Given the description of an element on the screen output the (x, y) to click on. 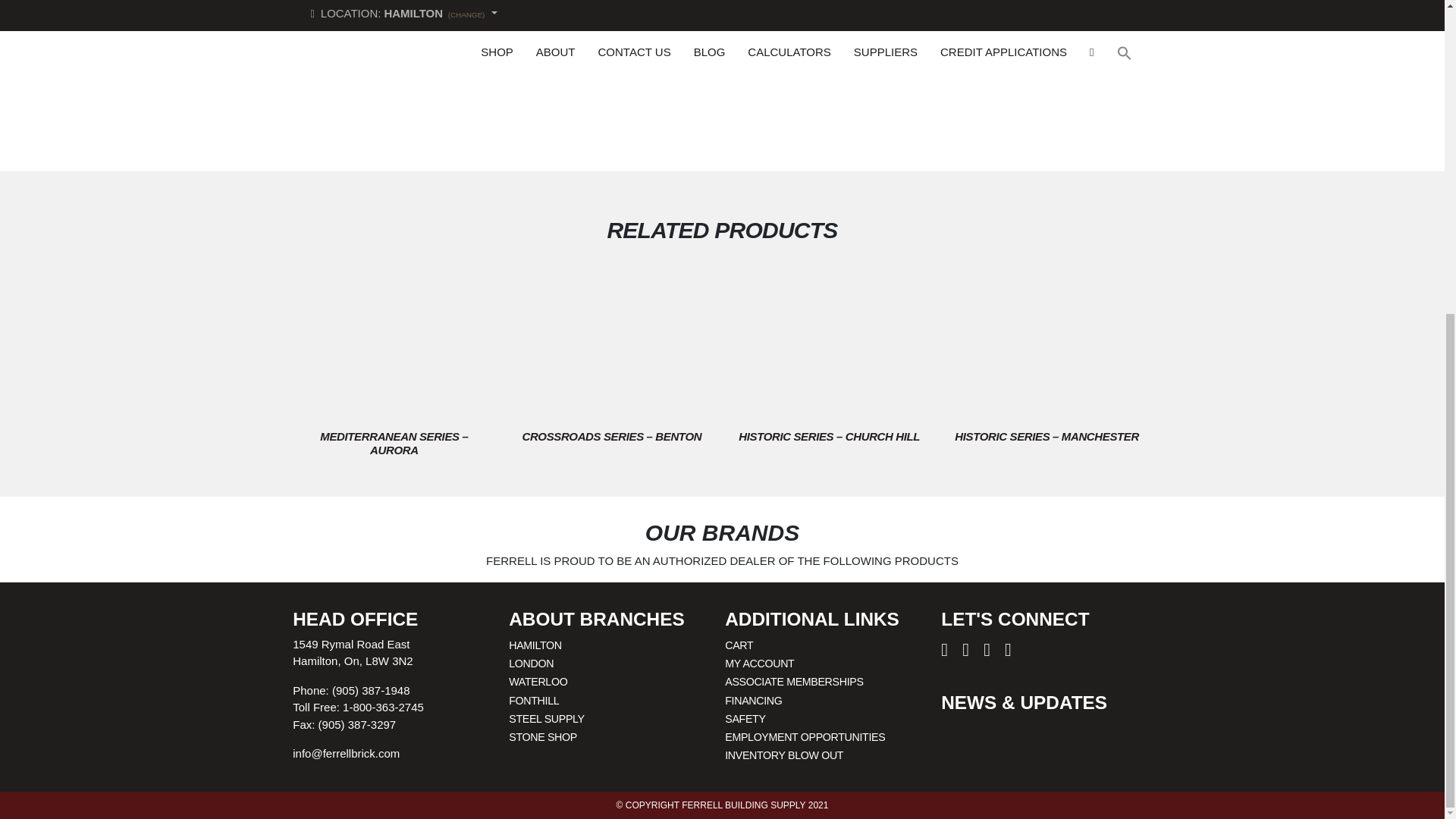
1 (1023, 11)
BOOK A CALL (788, 11)
ADD TO CART (1103, 11)
Qty (1023, 11)
